Given the description of an element on the screen output the (x, y) to click on. 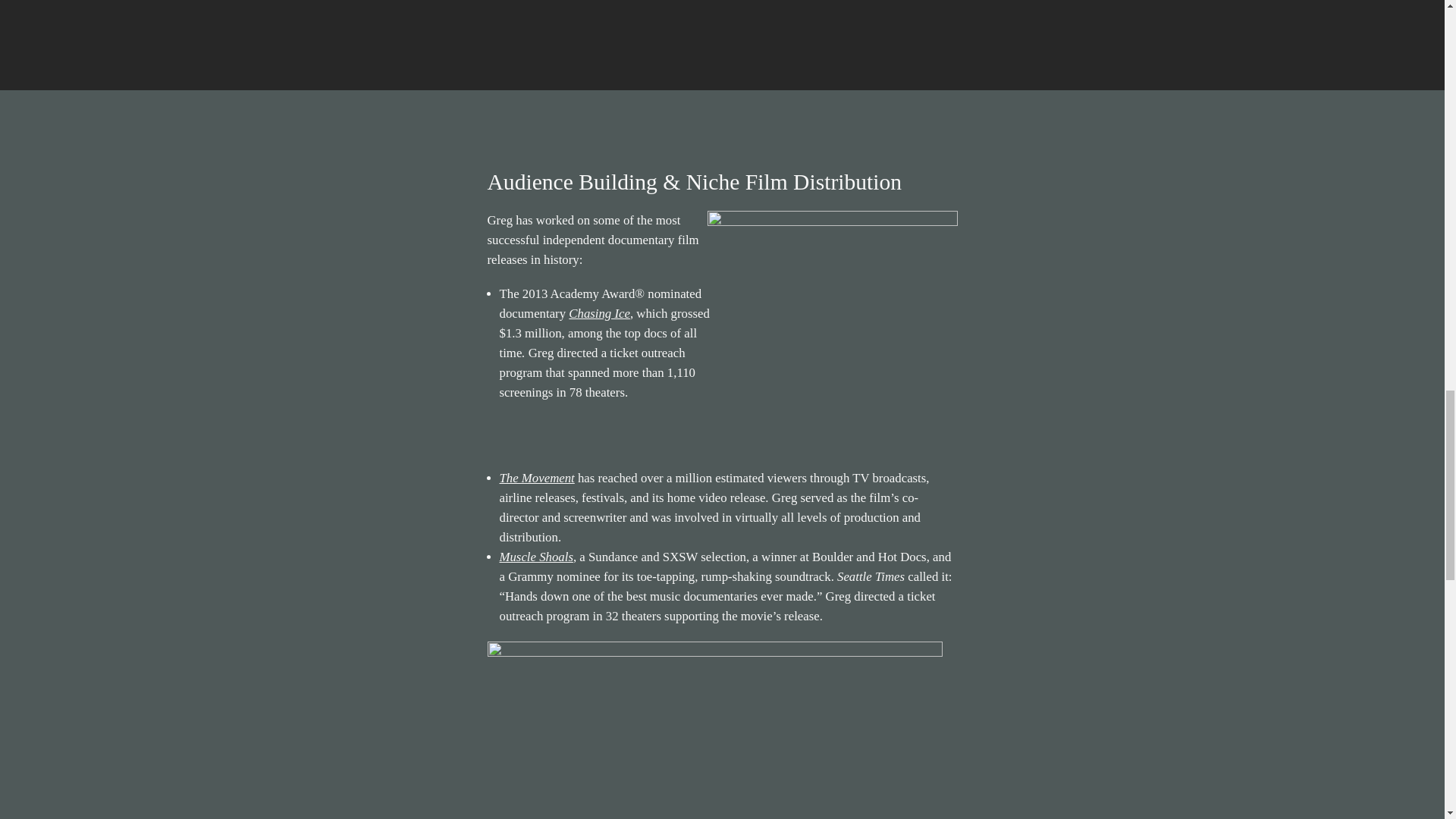
The Movement (536, 477)
Muscle Shoals (535, 556)
Chasing Ice (599, 313)
